Given the description of an element on the screen output the (x, y) to click on. 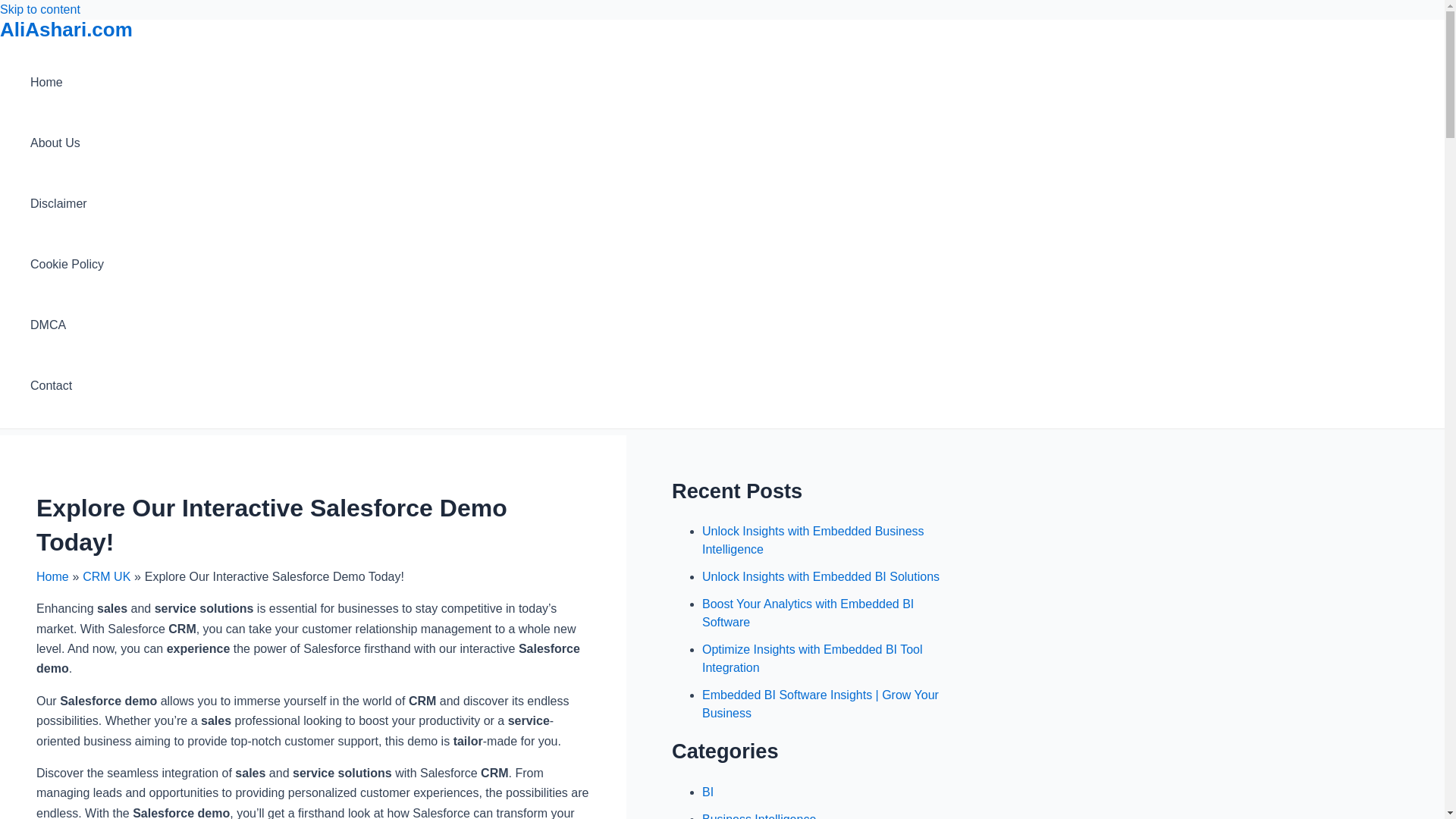
CRM UK (106, 576)
AliAshari.com (66, 29)
About Us (66, 143)
Contact (66, 385)
Cookie Policy (66, 264)
Home (52, 576)
Optimize Insights with Embedded BI Tool Integration (812, 658)
Home (66, 82)
DMCA (66, 324)
Skip to content (40, 9)
Business Intelligence (758, 816)
Boost Your Analytics with Embedded BI Software (807, 612)
Skip to content (40, 9)
Unlock Insights with Embedded BI Solutions (820, 576)
Unlock Insights with Embedded Business Intelligence (812, 540)
